Given the description of an element on the screen output the (x, y) to click on. 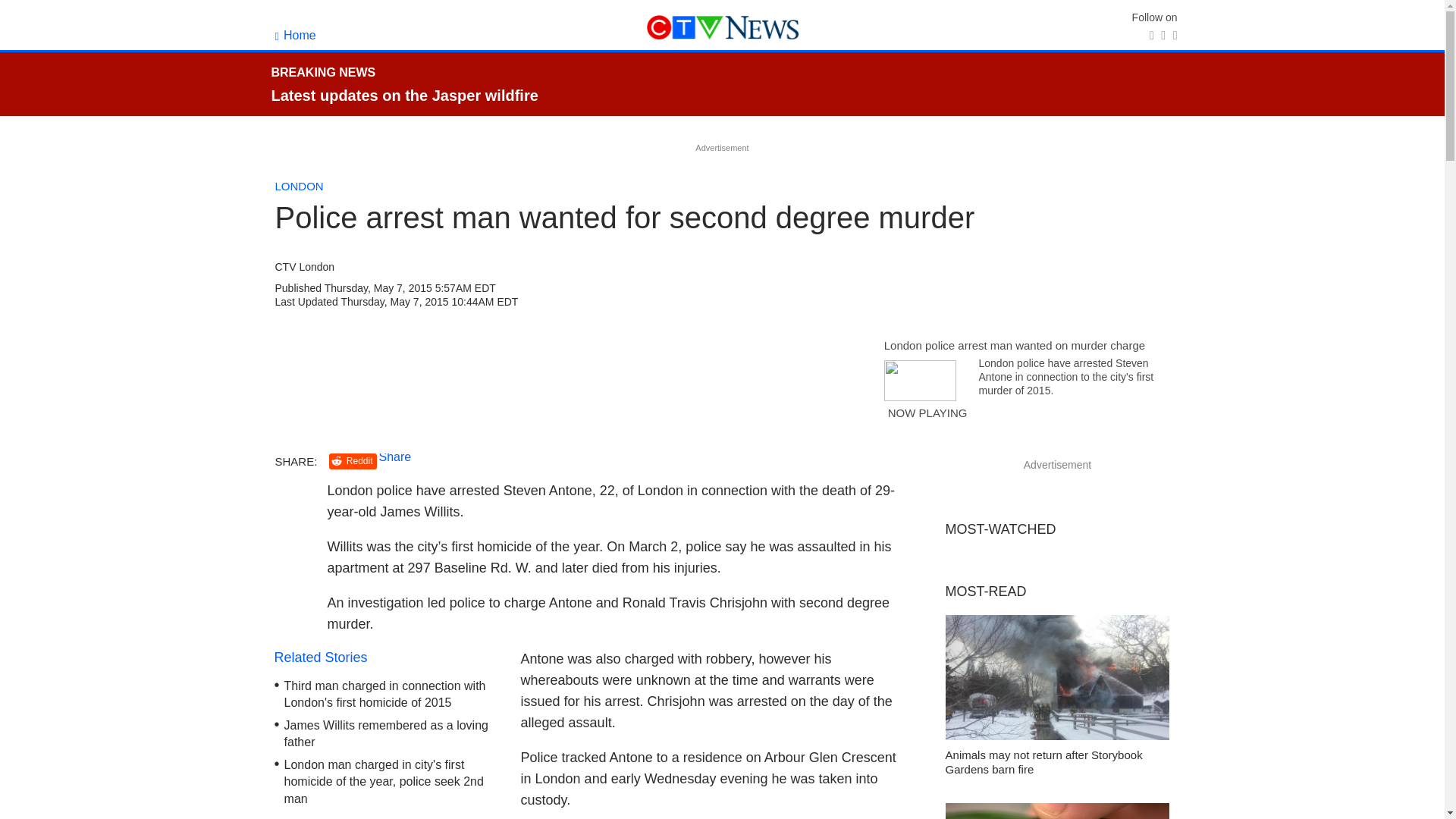
Home (295, 34)
Share (395, 456)
Latest updates on the Jasper wildfire (404, 95)
Reddit (353, 461)
London police arrest man wanted on murder charge (1013, 345)
LONDON (299, 185)
NOW PLAYING (927, 419)
